Given the description of an element on the screen output the (x, y) to click on. 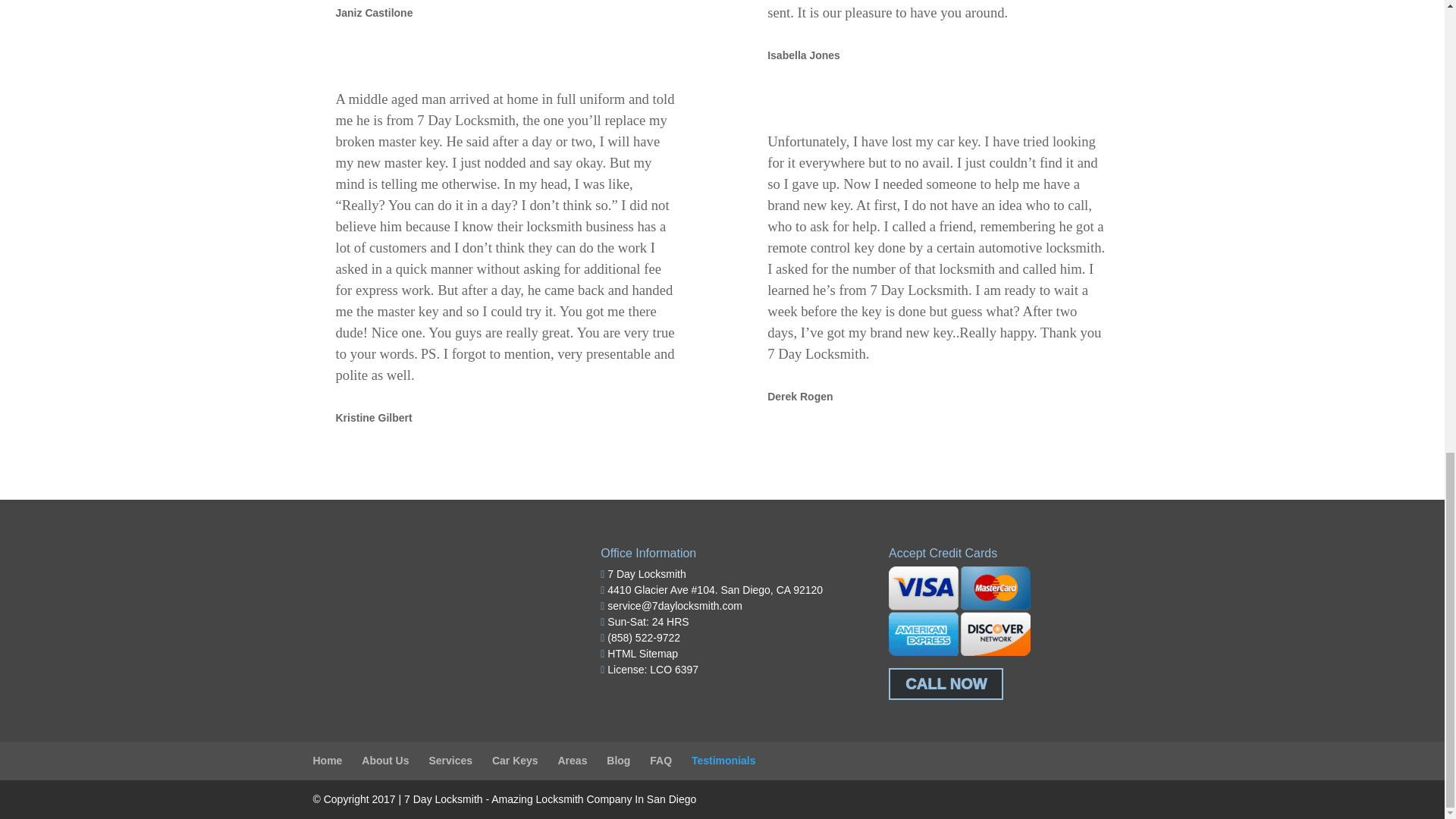
FAQ (660, 760)
Home (327, 760)
Services (449, 760)
Areas (572, 760)
Testimonials (723, 760)
Blog (618, 760)
Car Keys (515, 760)
CALL NOW (945, 684)
About Us (385, 760)
HTML Sitemap (642, 653)
